Given the description of an element on the screen output the (x, y) to click on. 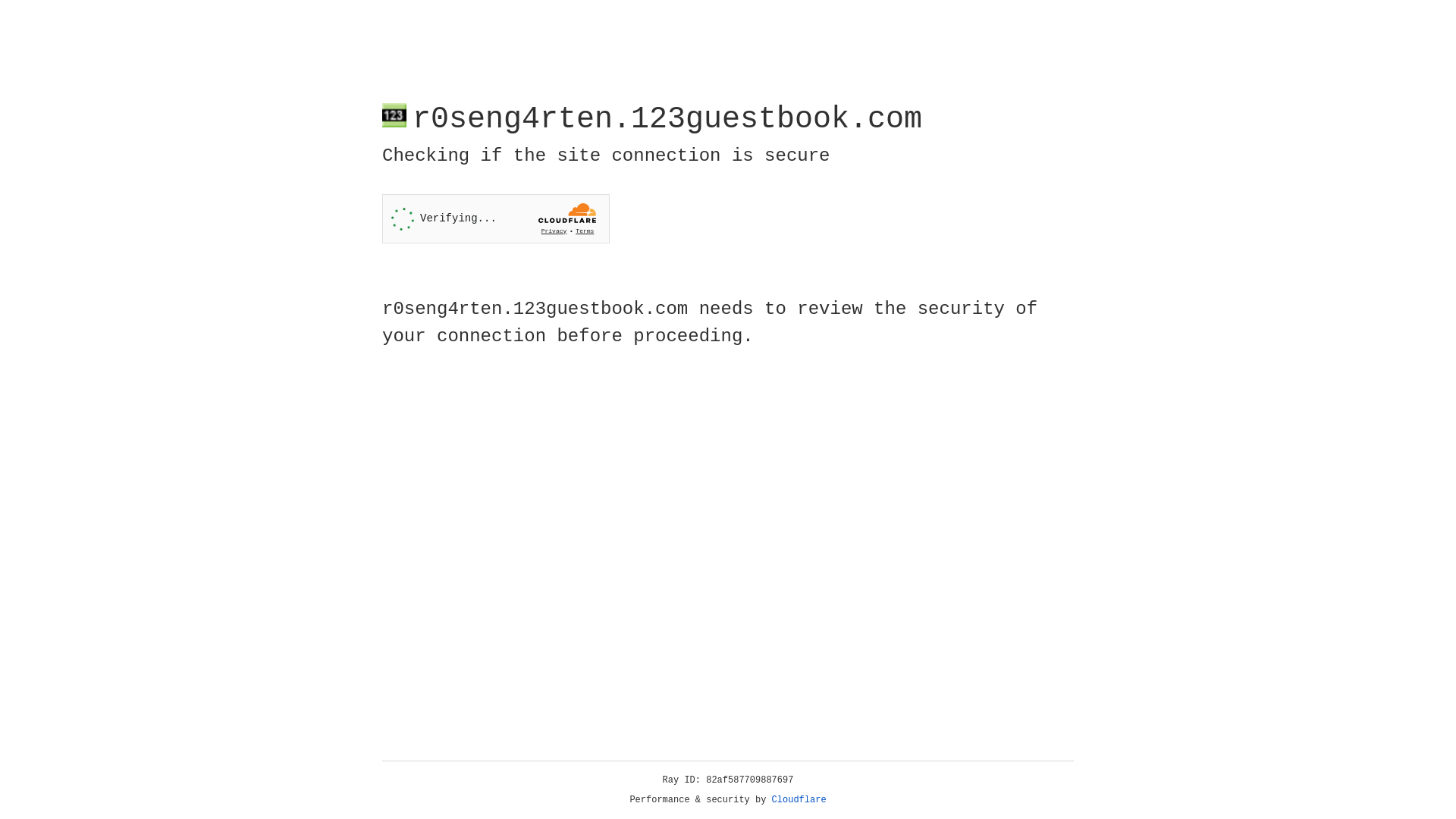
Cloudflare Element type: text (798, 799)
Widget containing a Cloudflare security challenge Element type: hover (495, 218)
